Given the description of an element on the screen output the (x, y) to click on. 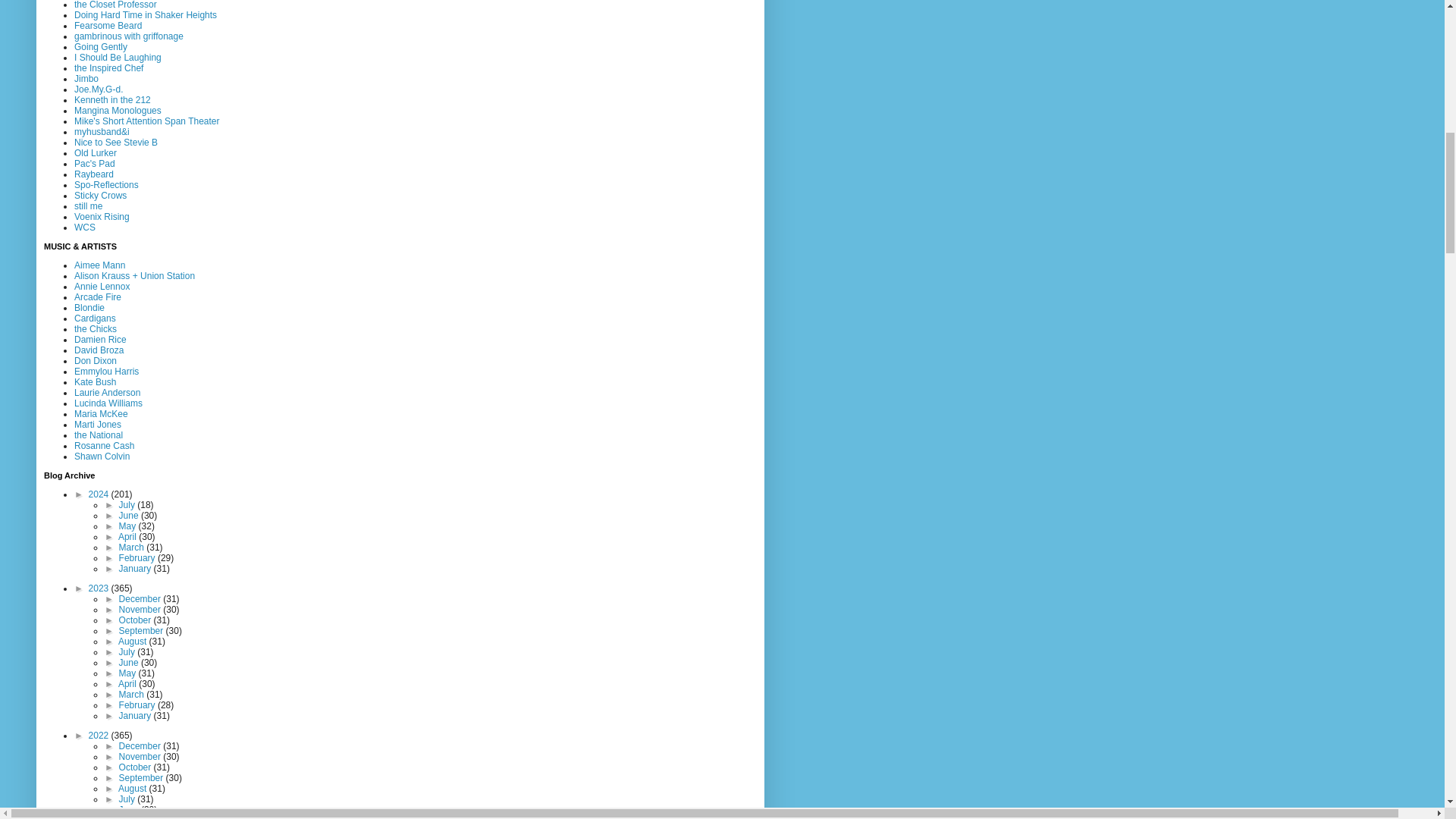
the Inspired Chef (108, 68)
Joe.My.G-d. (98, 89)
Kenneth in the 212 (112, 100)
the Closet Professor (115, 4)
Doing Hard Time in Shaker Heights (145, 14)
gambrinous with griffonage (128, 36)
Going Gently (101, 46)
Mike's Short Attention Span Theater (146, 121)
I Should Be Laughing (117, 57)
Fearsome Beard (107, 25)
Jimbo (86, 78)
Mangina Monologues (117, 110)
